Given the description of an element on the screen output the (x, y) to click on. 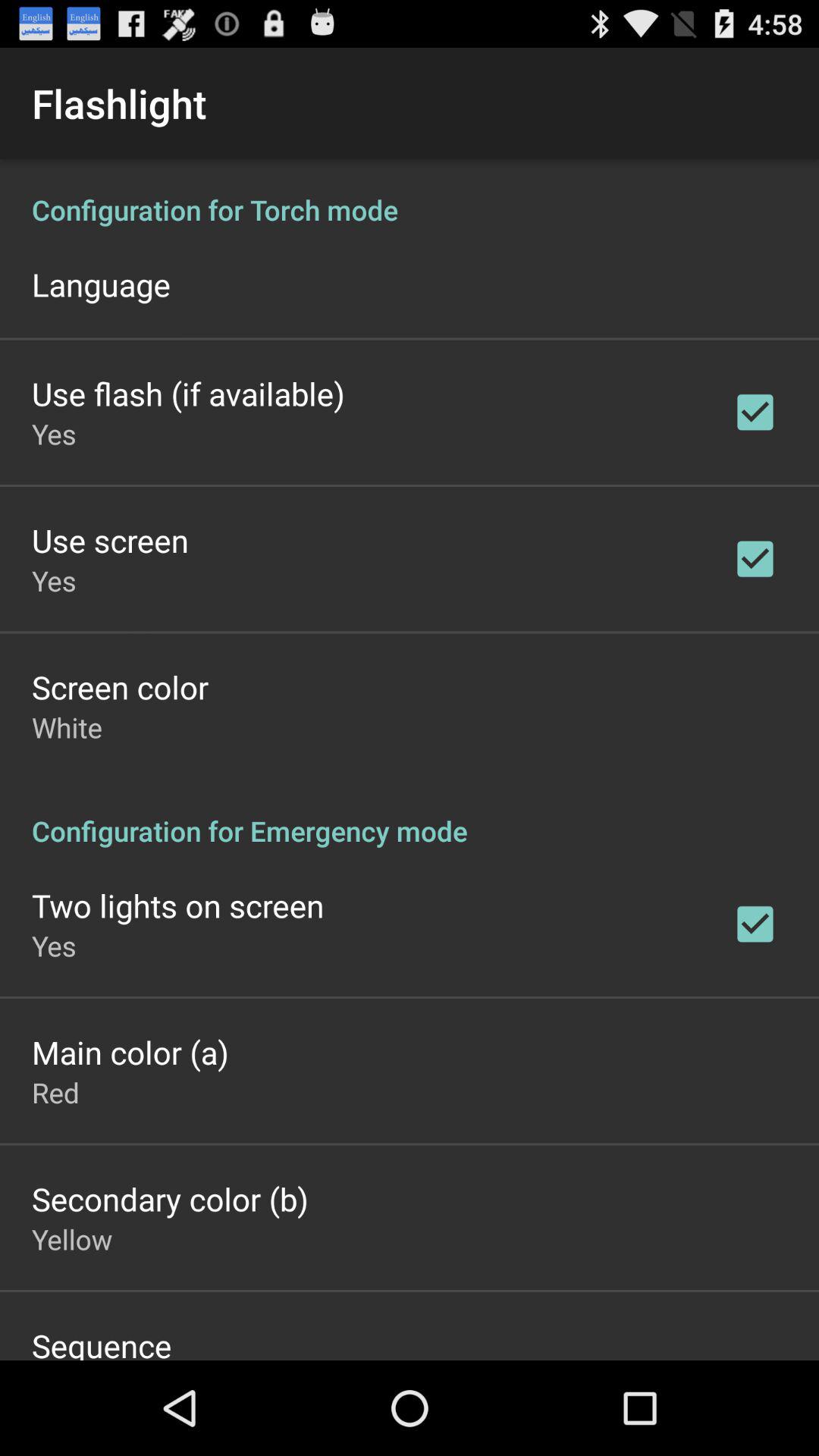
flashlight settings menu (409, 759)
